Given the description of an element on the screen output the (x, y) to click on. 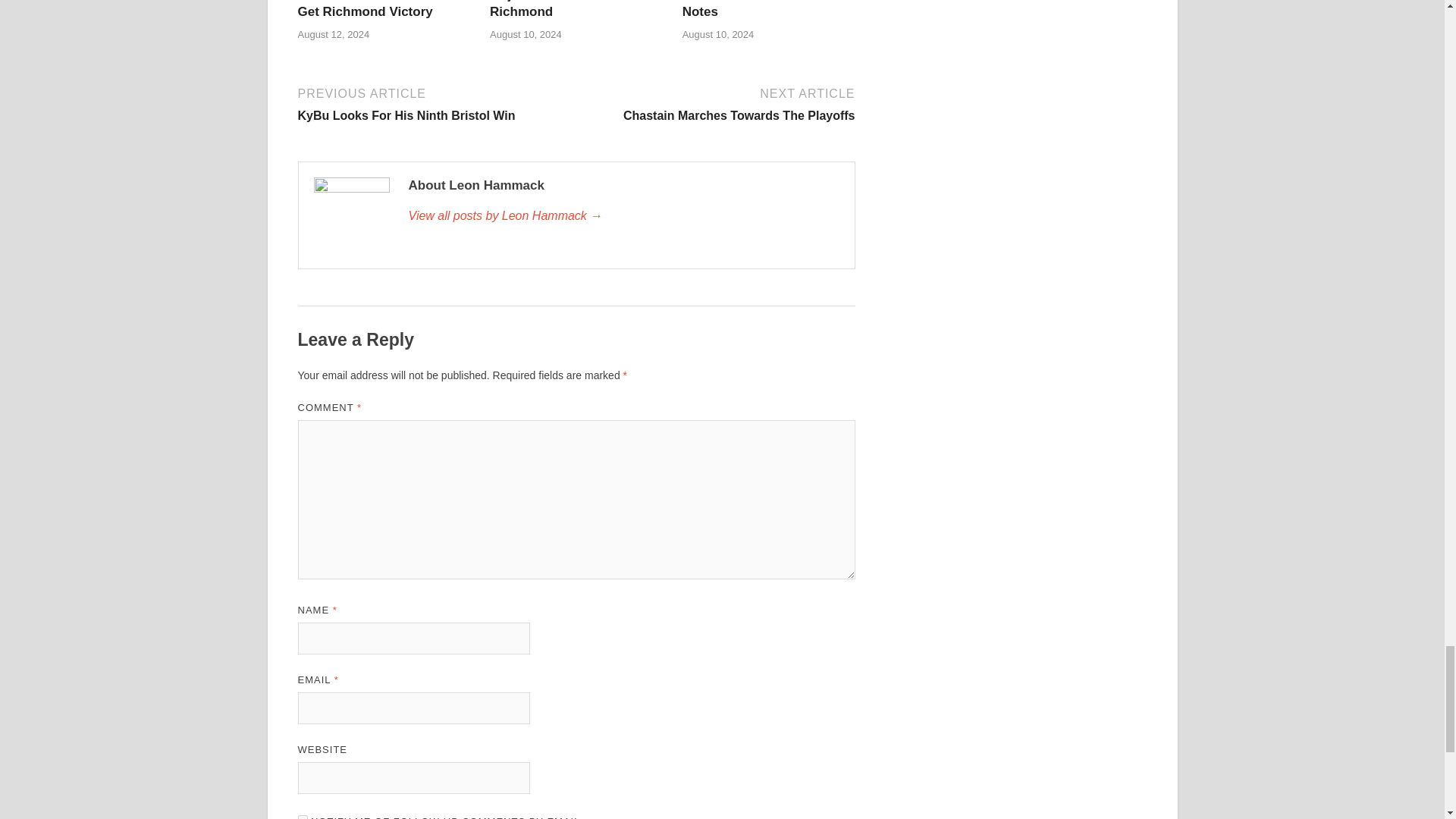
ADillon Crashes Others To Get Richmond Victory (378, 9)
Majeski Holds On At Richmond (551, 9)
ADillon Crashes Others To Get Richmond Victory (434, 103)
Richmond Cook Out 400 Notes (378, 9)
Richmond Cook Out 400 Notes (717, 103)
Majeski Holds On At Richmond (756, 9)
Leon Hammack (756, 9)
subscribe (551, 9)
